Given the description of an element on the screen output the (x, y) to click on. 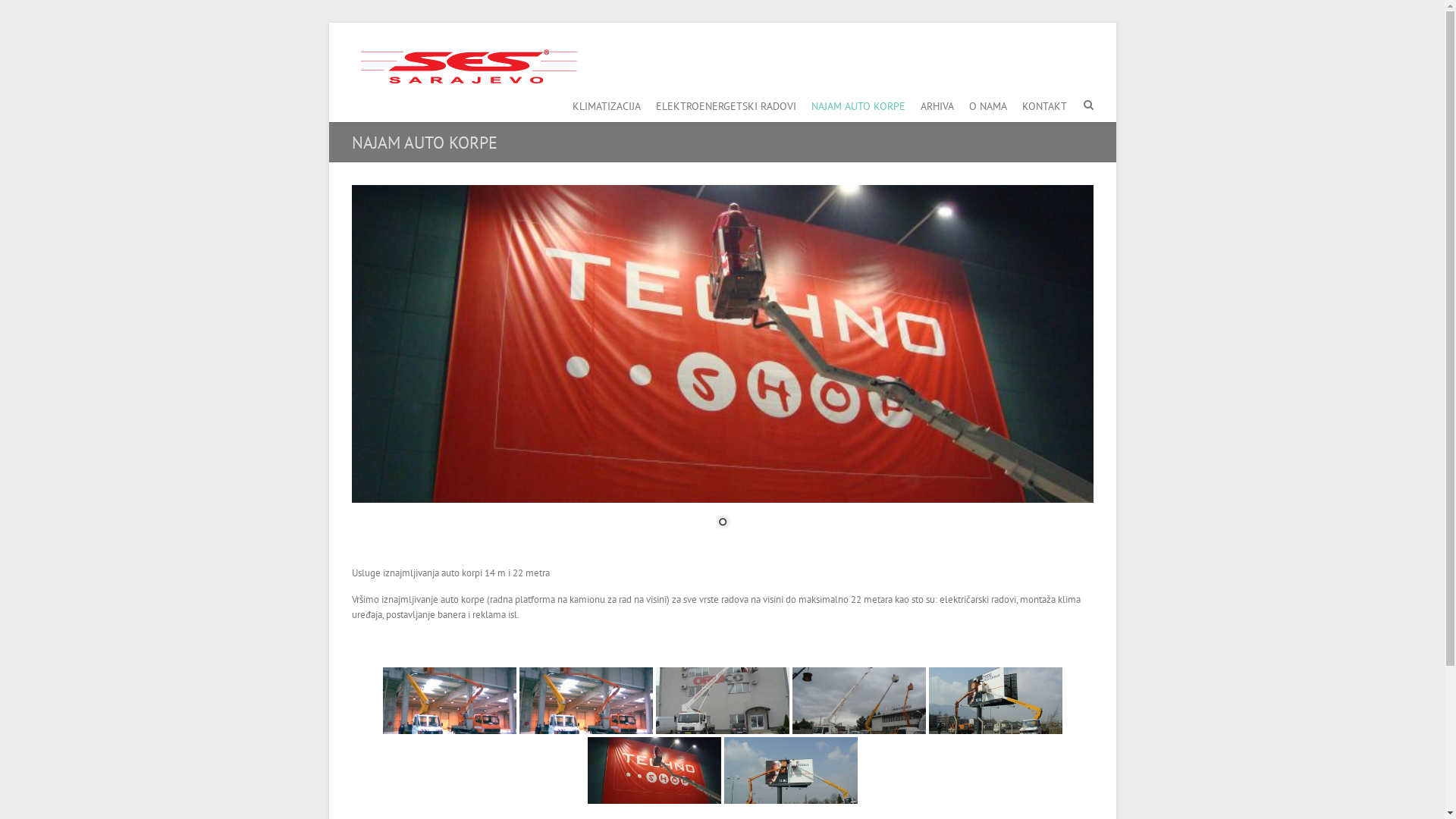
ELEKTROENERGETSKI RADOVI Element type: text (725, 103)
KLIMATIZACIJA Element type: text (605, 103)
NAJAM AUTO KORPE Element type: text (858, 103)
ARHIVA Element type: text (936, 103)
SES.ba Element type: hover (465, 65)
KONTAKT Element type: text (1044, 103)
O NAMA Element type: text (988, 103)
1 Element type: text (722, 522)
